Given the description of an element on the screen output the (x, y) to click on. 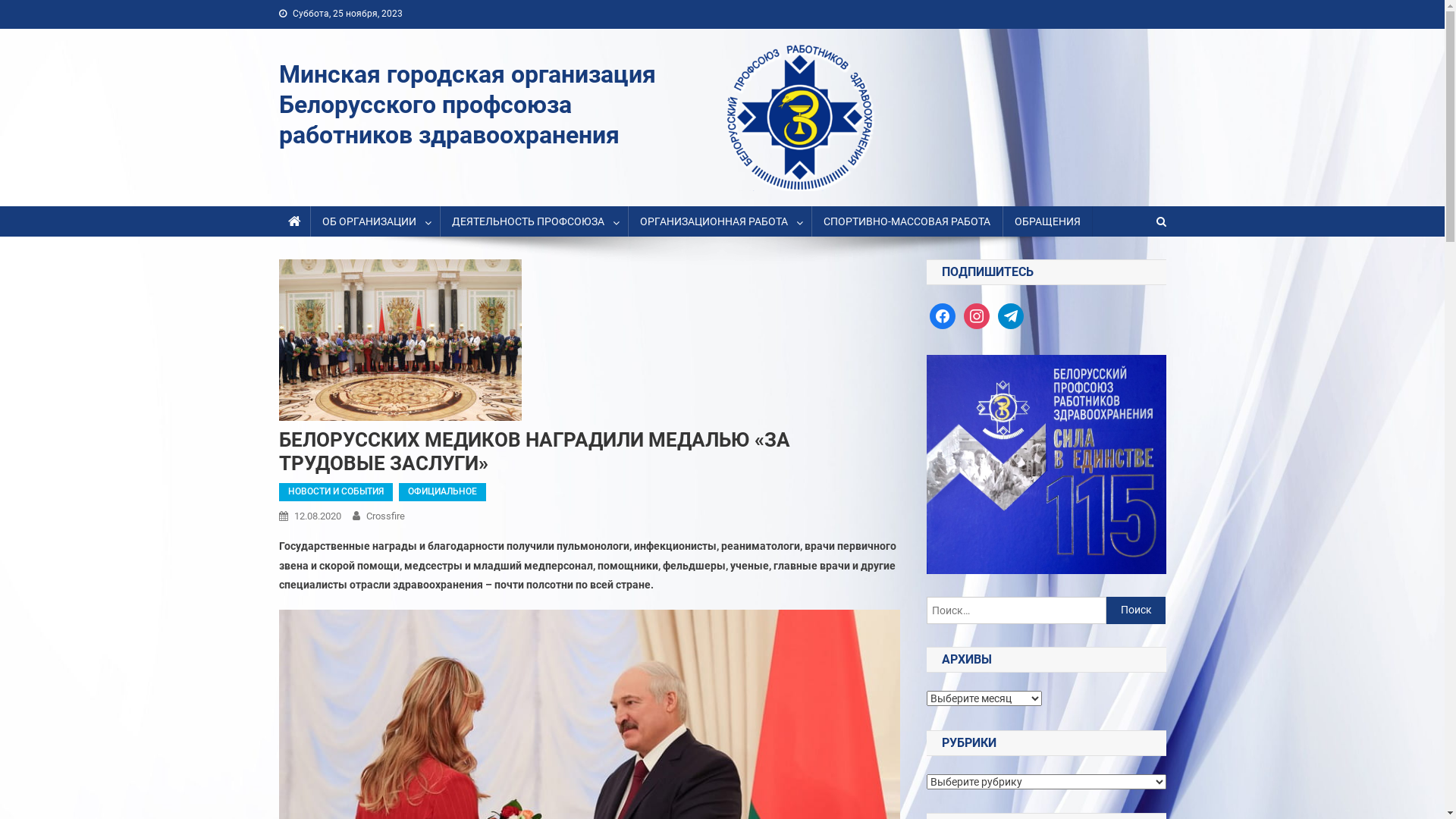
facebook Element type: text (942, 315)
instagram Element type: text (976, 315)
Crossfire Element type: text (384, 515)
12.08.2020 Element type: text (317, 515)
telegram Element type: text (1010, 315)
